Given the description of an element on the screen output the (x, y) to click on. 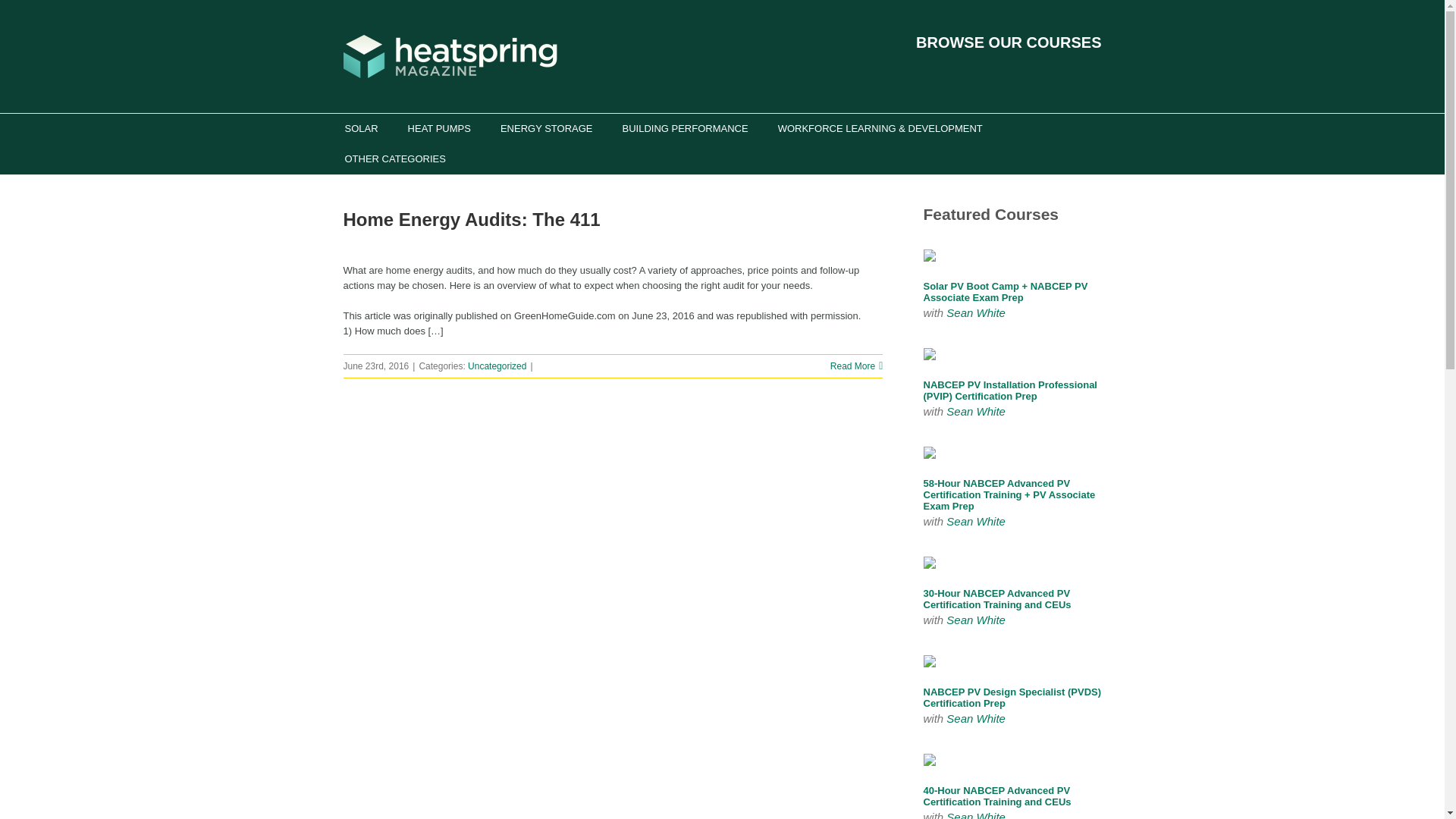
BROWSE OUR COURSES (1007, 42)
ENERGY STORAGE (546, 128)
OTHER CATEGORIES (394, 159)
BUILDING PERFORMANCE (685, 128)
SOLAR (360, 128)
HEAT PUMPS (438, 128)
